Given the description of an element on the screen output the (x, y) to click on. 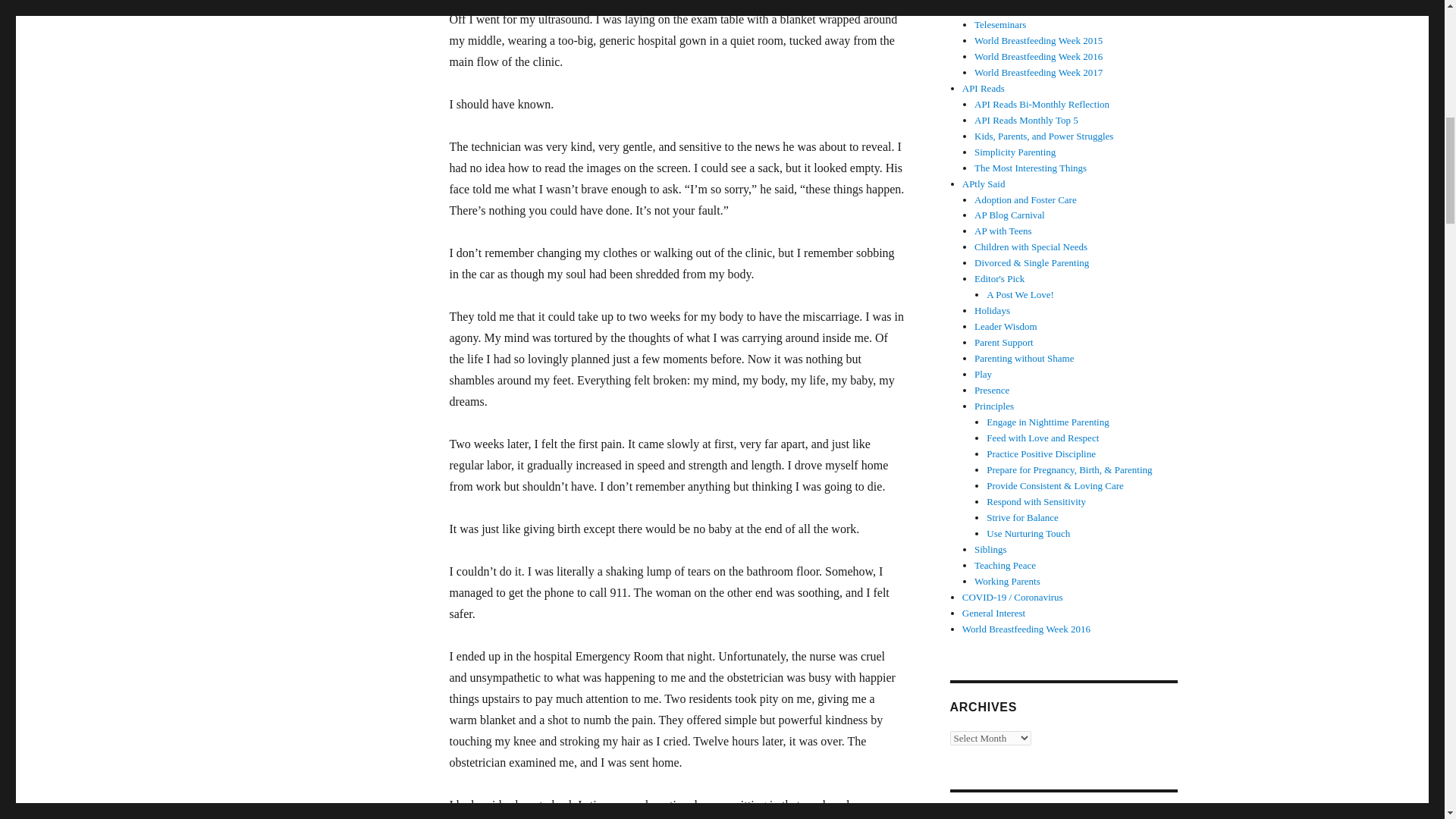
Reading of the book "Kids, Parents, and Power Struggles". (1043, 135)
